Given the description of an element on the screen output the (x, y) to click on. 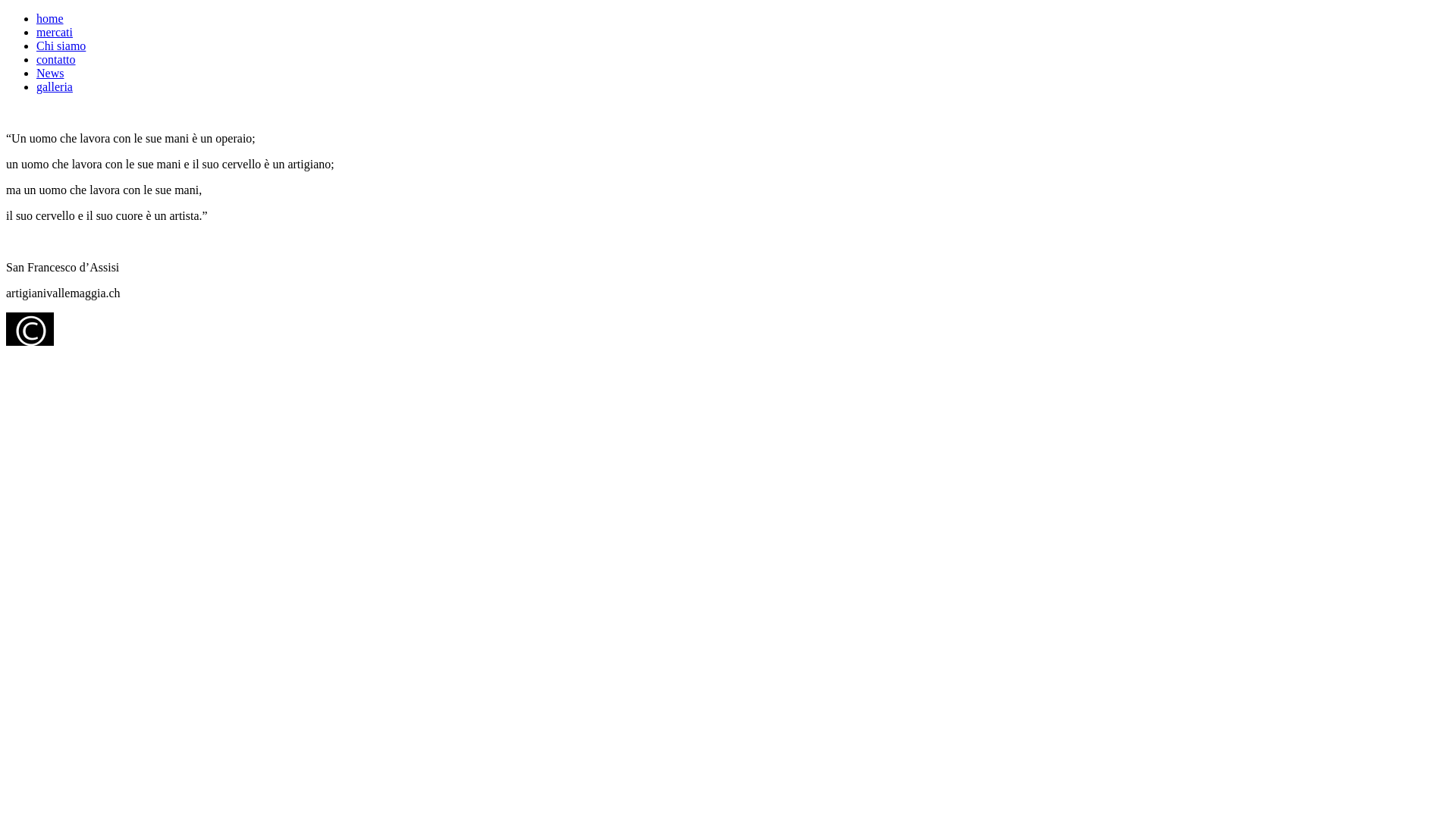
contatto Element type: text (55, 59)
News Element type: text (49, 72)
home Element type: text (49, 18)
Chi siamo Element type: text (60, 45)
mercati Element type: text (54, 31)
galleria Element type: text (54, 86)
